Given the description of an element on the screen output the (x, y) to click on. 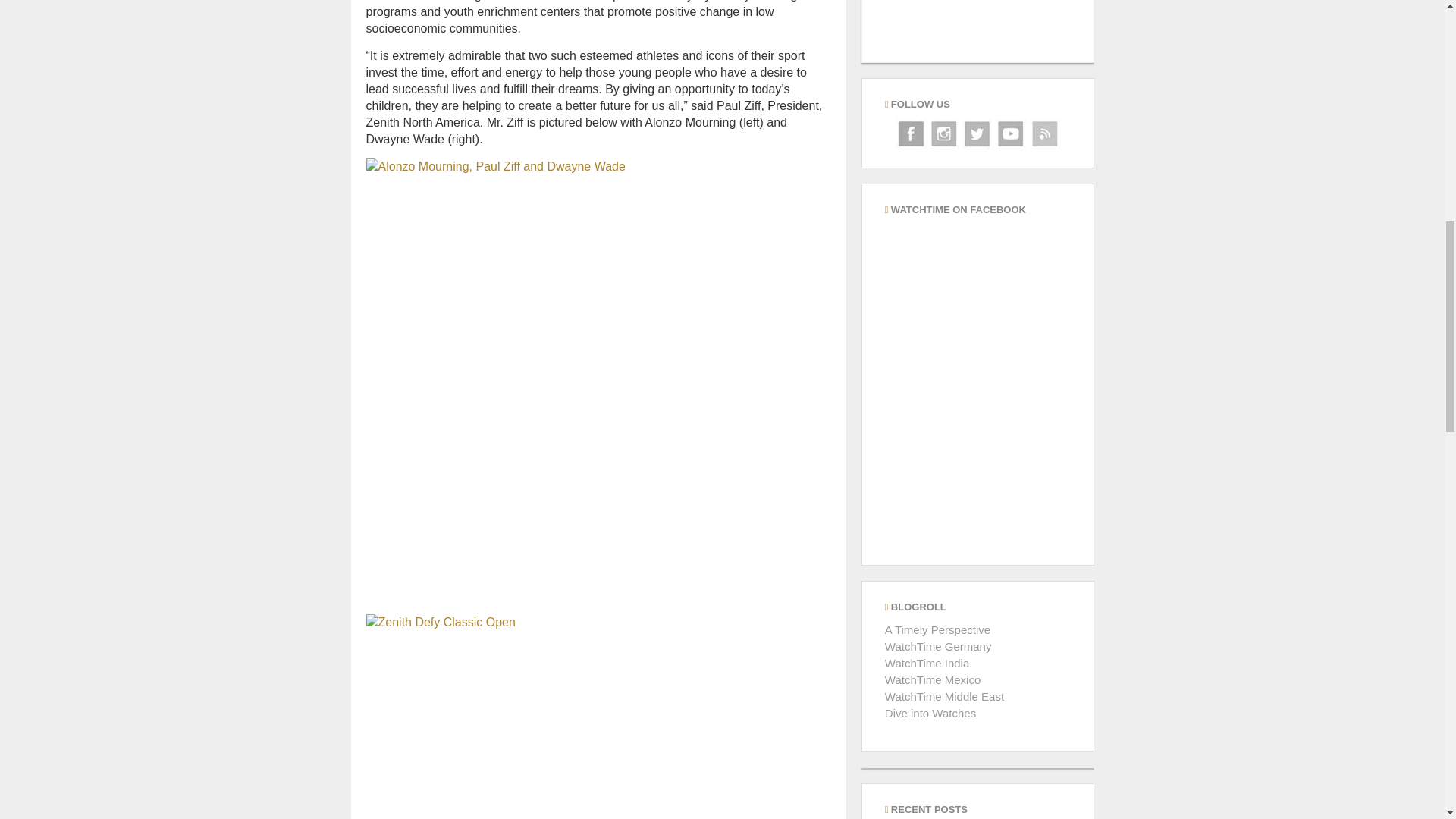
3rd party ad content (976, 31)
Zenith Defy Classic Open (597, 716)
